Given the description of an element on the screen output the (x, y) to click on. 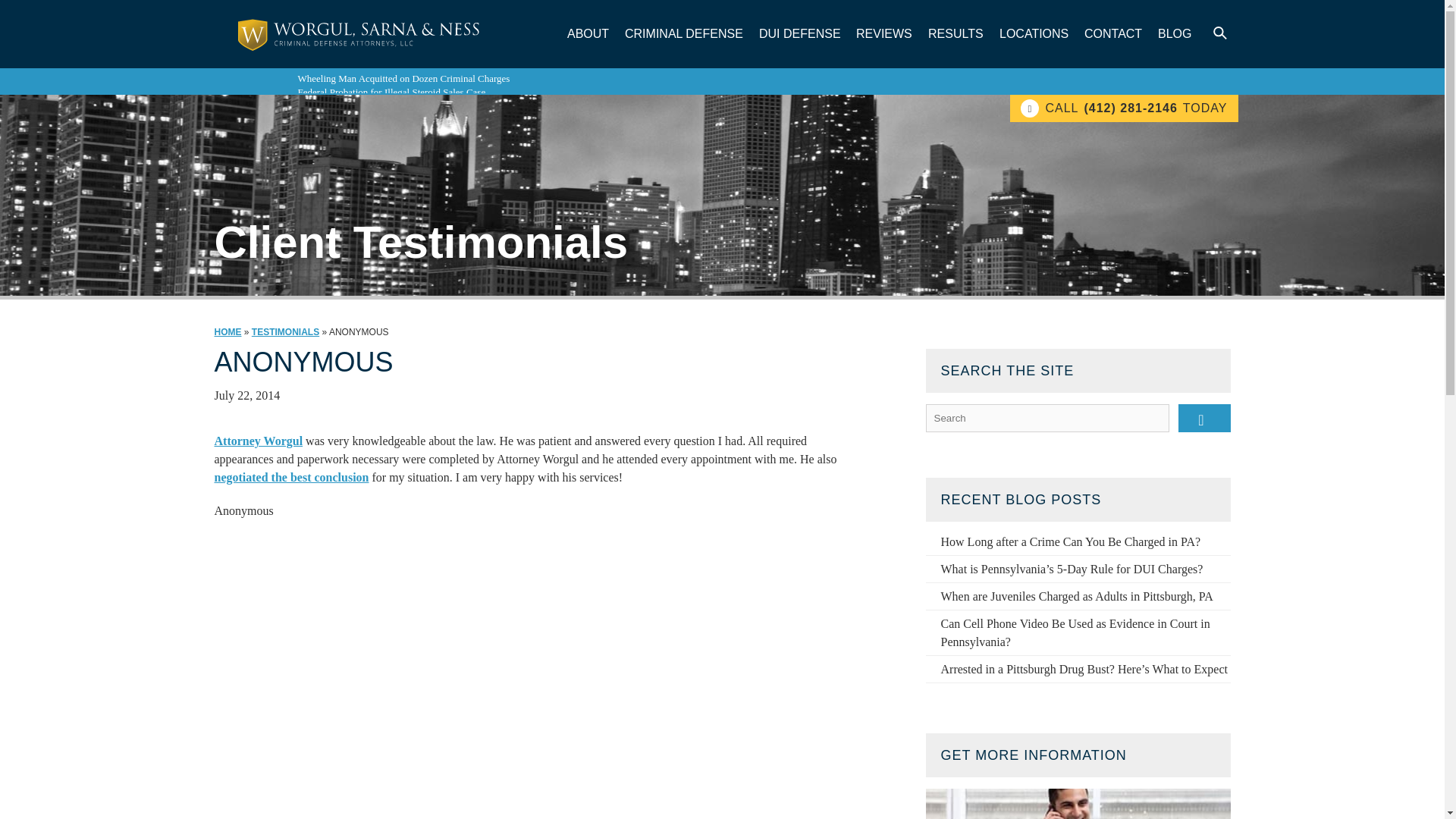
When are Juveniles Charged as Adults in Pittsburgh, PA (1076, 595)
How Long after a Crime Can You Be Charged in PA? (1069, 541)
Wheeling Man Acquitted on Dozen Criminal Charges (403, 78)
Federal Probation for Illegal Steroid Sales Case (390, 91)
Meet our Attorneys (1077, 803)
Federal Probation for Illegal Steroid Sales Case (390, 91)
Wheeling Man Acquitted on Dozen Criminal Charges (403, 78)
CRIMINAL DEFENSE (683, 33)
